Given the description of an element on the screen output the (x, y) to click on. 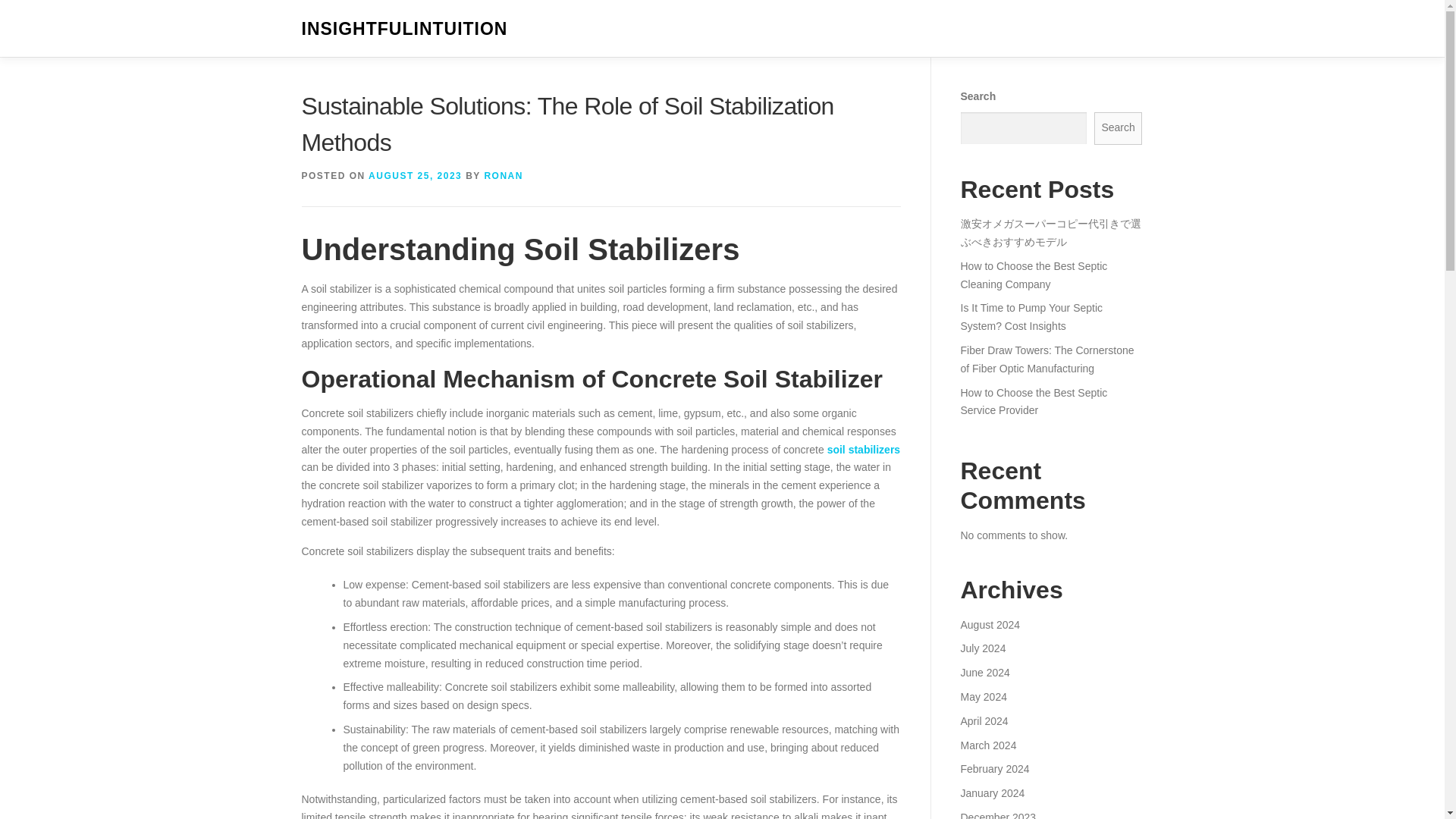
March 2024 (987, 744)
August 2024 (989, 624)
How to Choose the Best Septic Service Provider (1032, 401)
December 2023 (997, 815)
June 2024 (984, 672)
January 2024 (992, 793)
February 2024 (994, 768)
May 2024 (982, 696)
RONAN (502, 175)
